Given the description of an element on the screen output the (x, y) to click on. 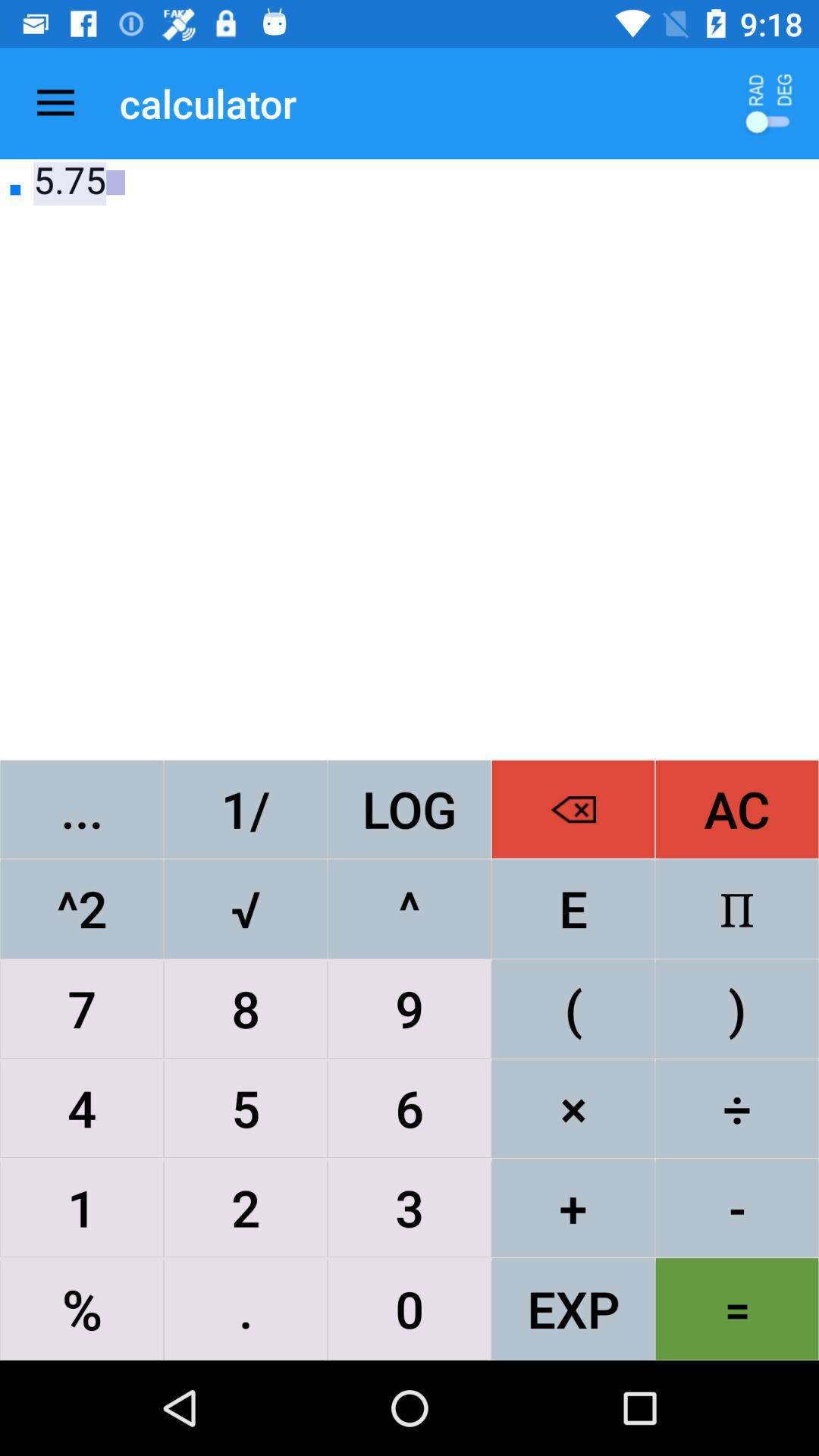
scroll until the 7 item (81, 1008)
